Given the description of an element on the screen output the (x, y) to click on. 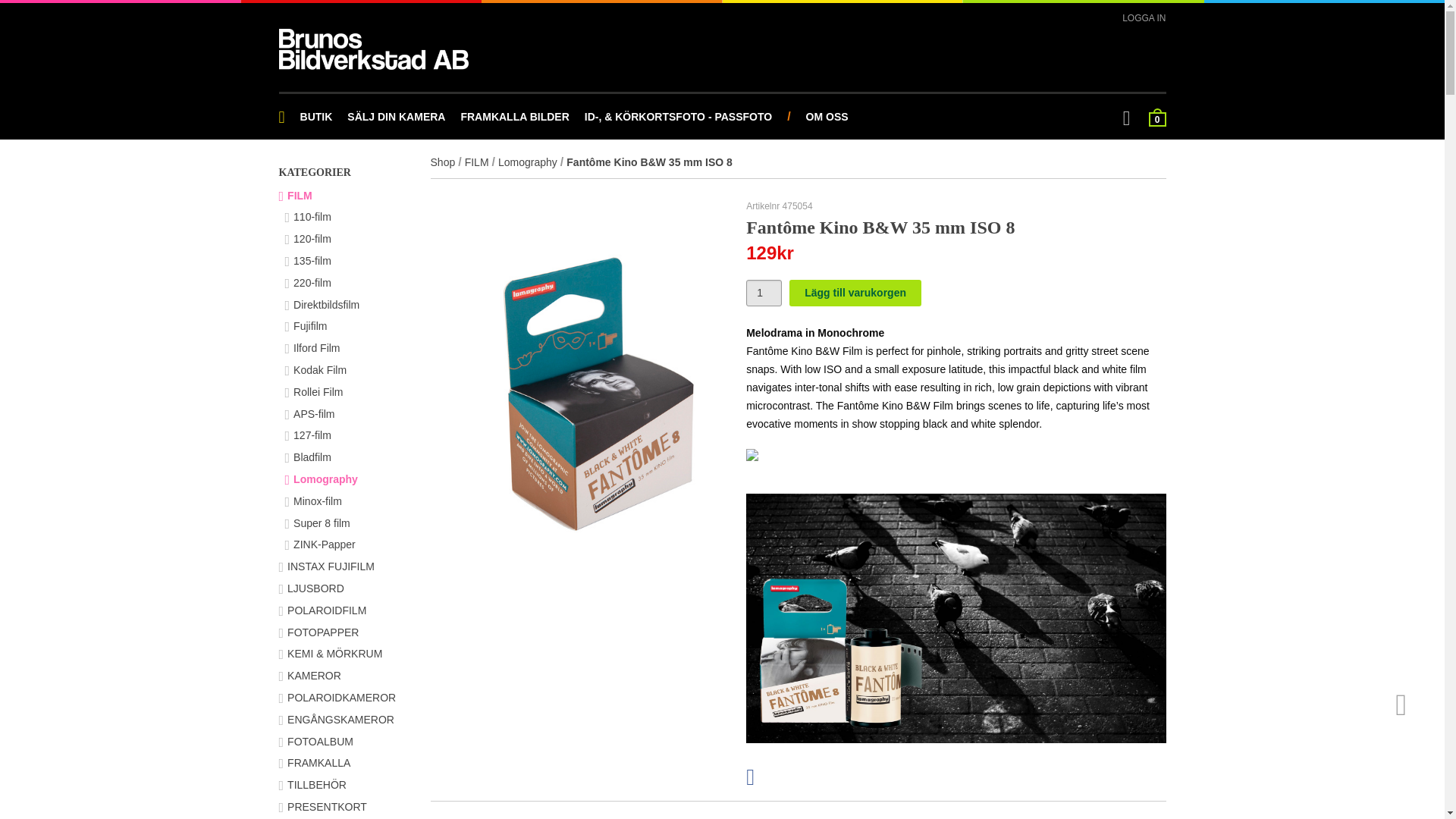
Om oss (826, 117)
Butik (316, 117)
Till Kassan (1157, 117)
Framkalla Bilder (514, 117)
1 (763, 293)
Brunos Bildverkstad AB (373, 48)
